Given the description of an element on the screen output the (x, y) to click on. 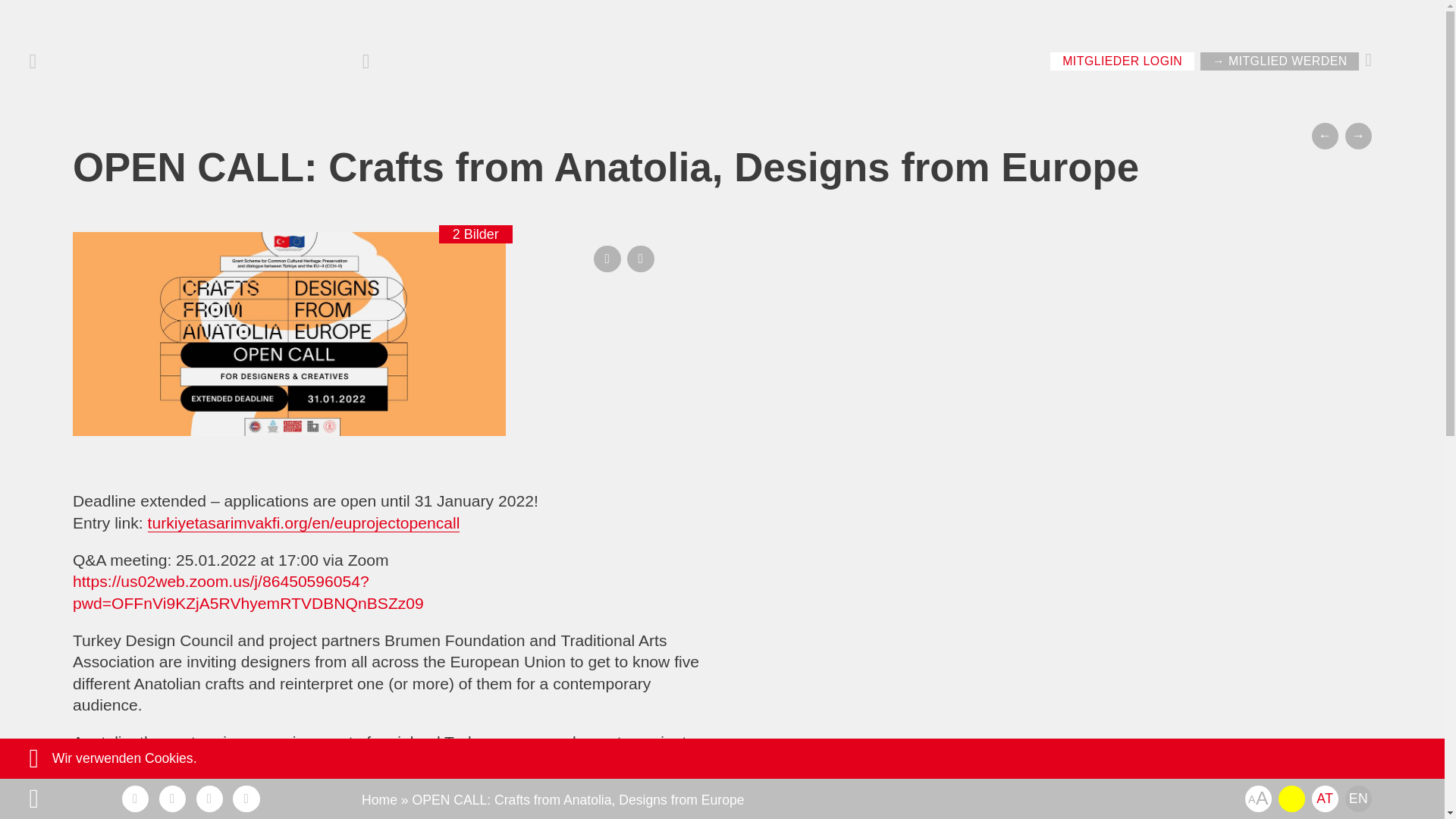
AGB Webshop (826, 812)
Kontakt (399, 812)
MITGLIEDER LOGIN (1121, 61)
EN (1358, 798)
Impressum (717, 812)
FAQ (465, 812)
Datenschutz (615, 812)
Home (379, 799)
Presse (527, 812)
